Given the description of an element on the screen output the (x, y) to click on. 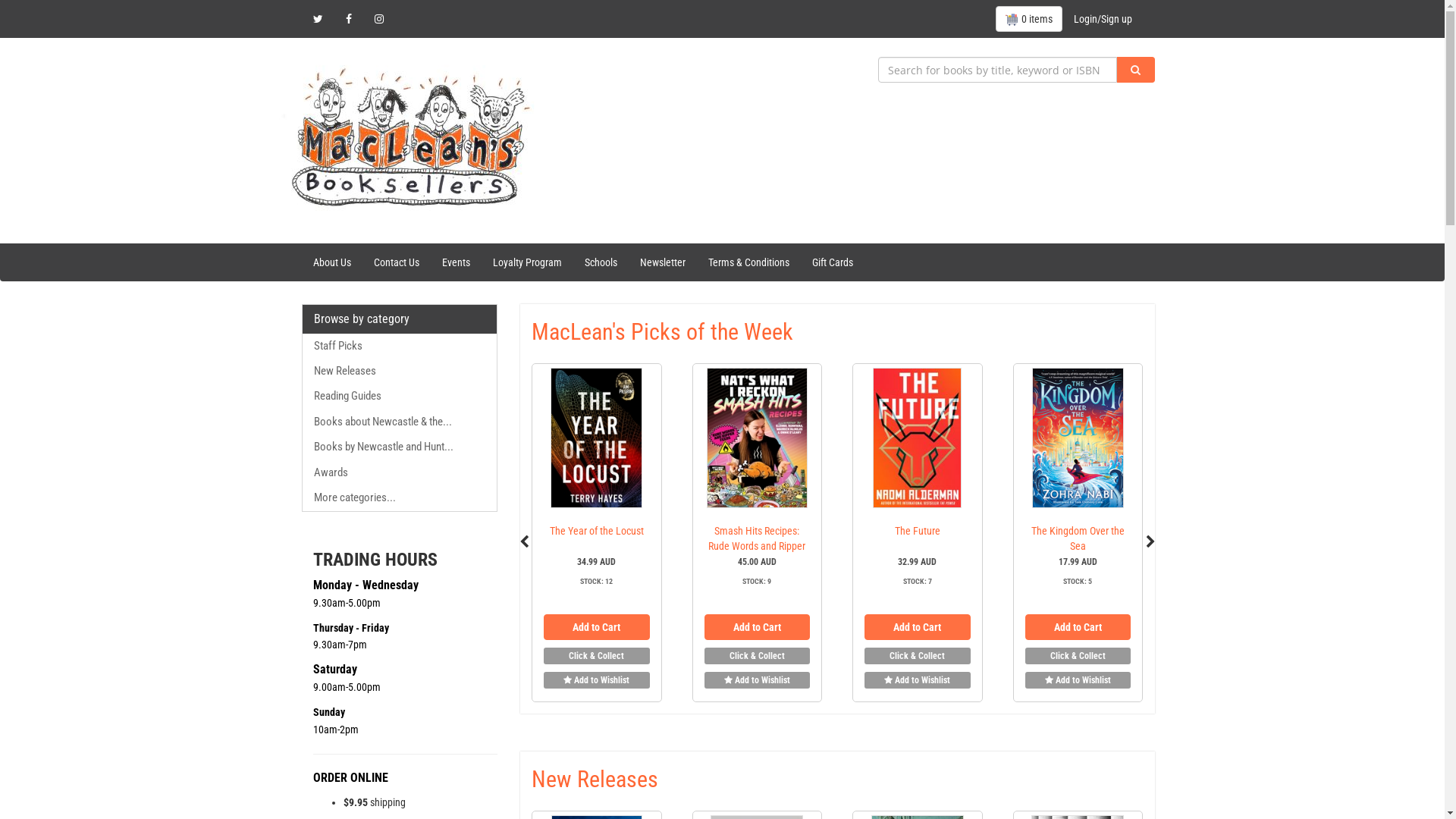
Click & Collect Element type: text (596, 655)
Add to Cart Element type: text (756, 627)
Add to Cart Element type: text (596, 627)
Terms & Conditions Element type: text (748, 262)
Add to Cart Element type: text (1077, 627)
Click & Collect Element type: text (756, 655)
Reading Guides Element type: text (399, 396)
New Releases Element type: text (594, 778)
Events Element type: text (455, 262)
More categories... Element type: text (399, 497)
The Kingdom Over the Sea Element type: text (1077, 538)
Newsletter Element type: text (661, 262)
Login/Sign up Element type: text (1101, 18)
Add to Wishlist Element type: text (916, 679)
Books by Newcastle and Hunt... Element type: text (399, 447)
Add to Cart Element type: text (916, 627)
Add to Wishlist Element type: text (596, 679)
Books about Newcastle & the... Element type: text (399, 421)
Awards Element type: text (399, 472)
The Future Element type: text (917, 530)
Contact Us Element type: text (396, 262)
0 items Element type: text (1027, 18)
Click & Collect Element type: text (916, 655)
The Year of the Locust Element type: text (596, 530)
Schools Element type: text (600, 262)
MacLean's Picks of the Week Element type: text (662, 331)
Staff Picks Element type: text (399, 346)
Smash Hits Recipes: Rude Words and Ripper Feeds Element type: text (756, 545)
About Us Element type: text (331, 262)
New Releases Element type: text (399, 371)
Click & Collect Element type: text (1077, 655)
Add to Wishlist Element type: text (756, 679)
0 items Element type: text (1027, 18)
Gift Cards Element type: text (832, 262)
Add to Wishlist Element type: text (1077, 679)
Loyalty Program Element type: text (526, 262)
